Given the description of an element on the screen output the (x, y) to click on. 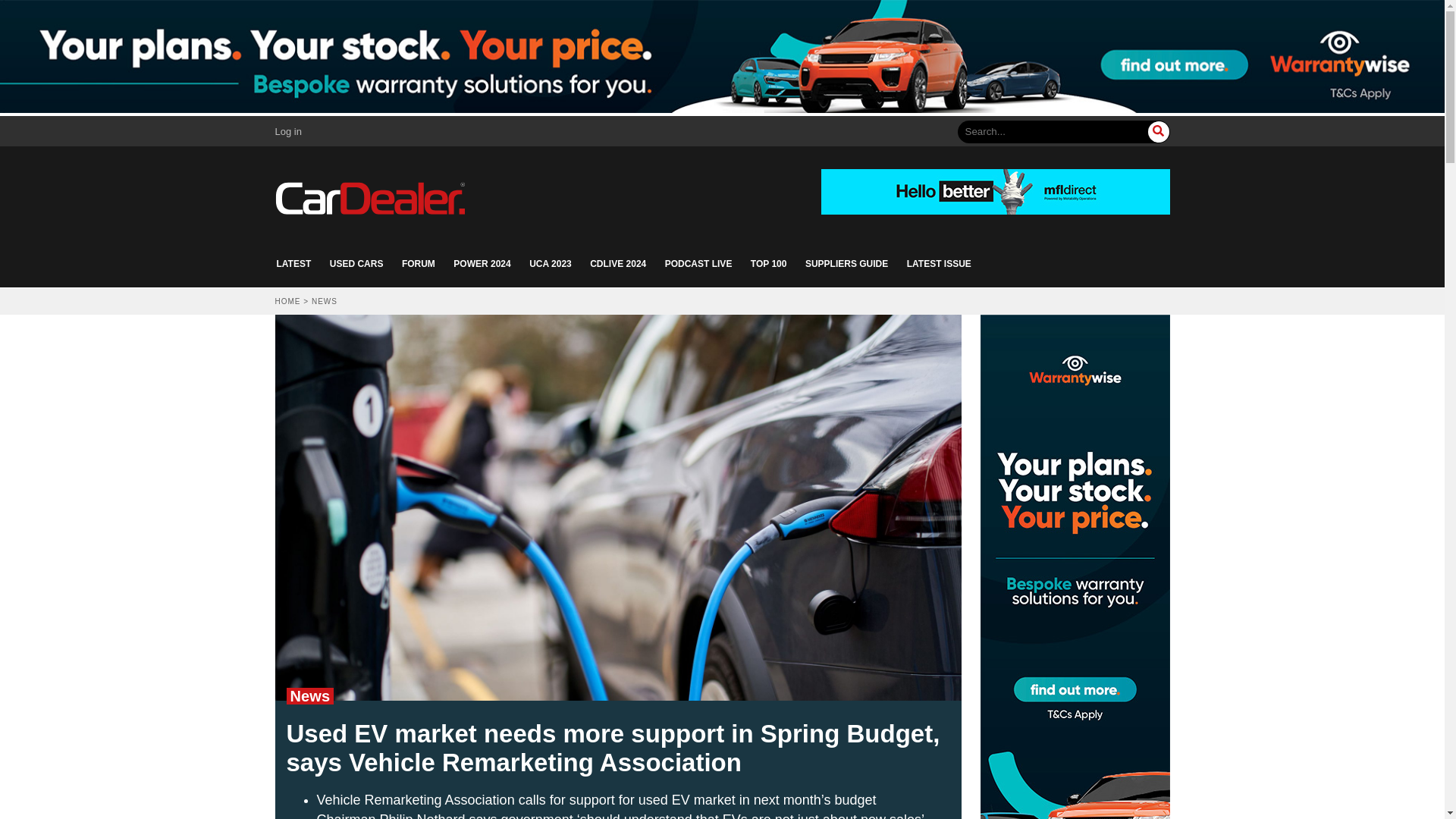
HOME (287, 301)
POWER 2024 (481, 263)
UCA 2023 (550, 263)
LATEST (293, 263)
News (309, 695)
SUPPLIERS GUIDE (846, 263)
NEWS (324, 301)
TOP 100 (769, 263)
PODCAST LIVE (698, 263)
Log in (288, 131)
